Given the description of an element on the screen output the (x, y) to click on. 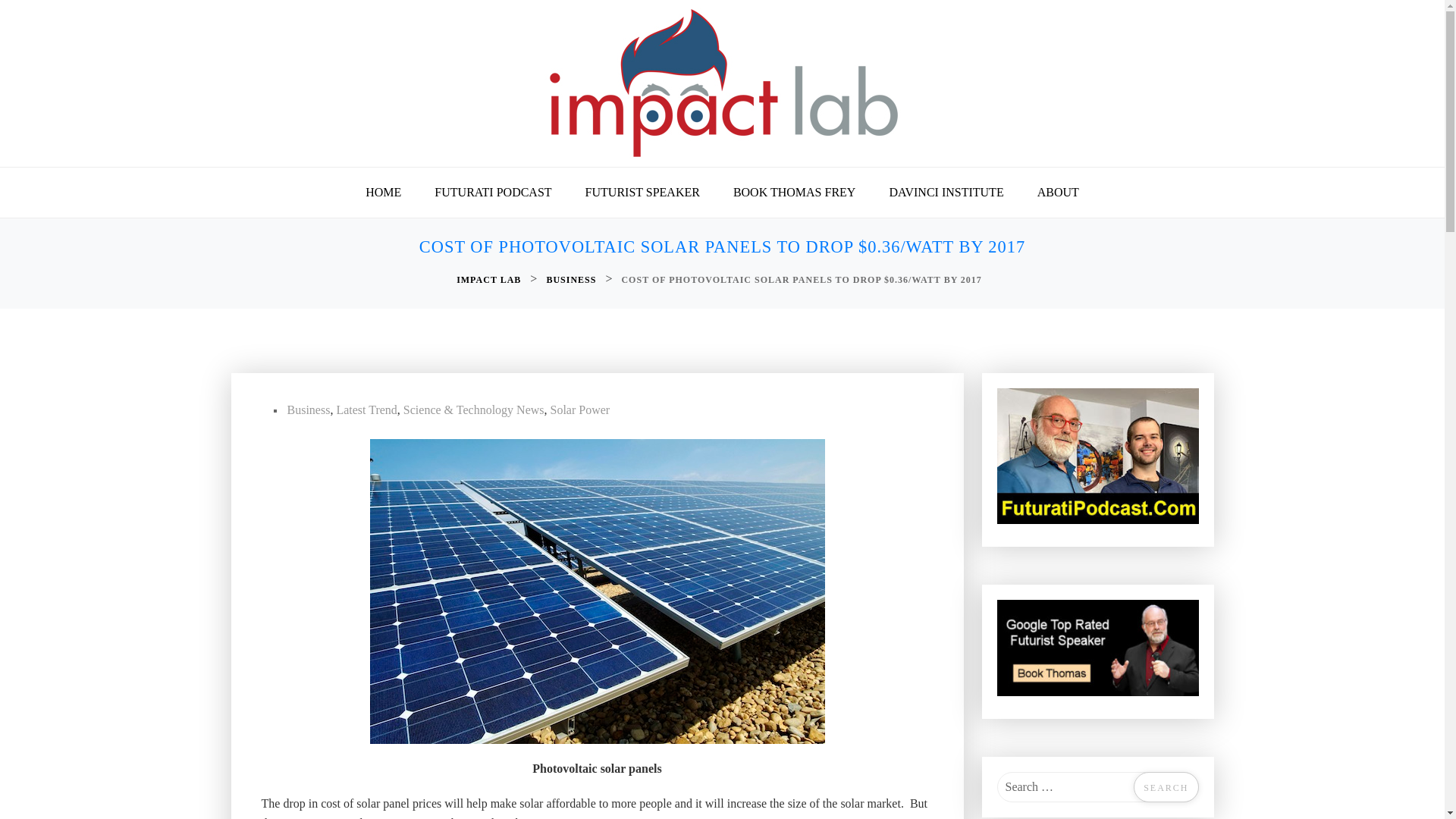
Go to the Business Category archives. (572, 279)
IMPACT LAB (490, 279)
Search (1166, 787)
FUTURATI PODCAST (492, 192)
Search (1166, 787)
FUTURIST SPEAKER (642, 192)
Search (1166, 787)
Business (308, 410)
ABOUT (1058, 192)
